Given the description of an element on the screen output the (x, y) to click on. 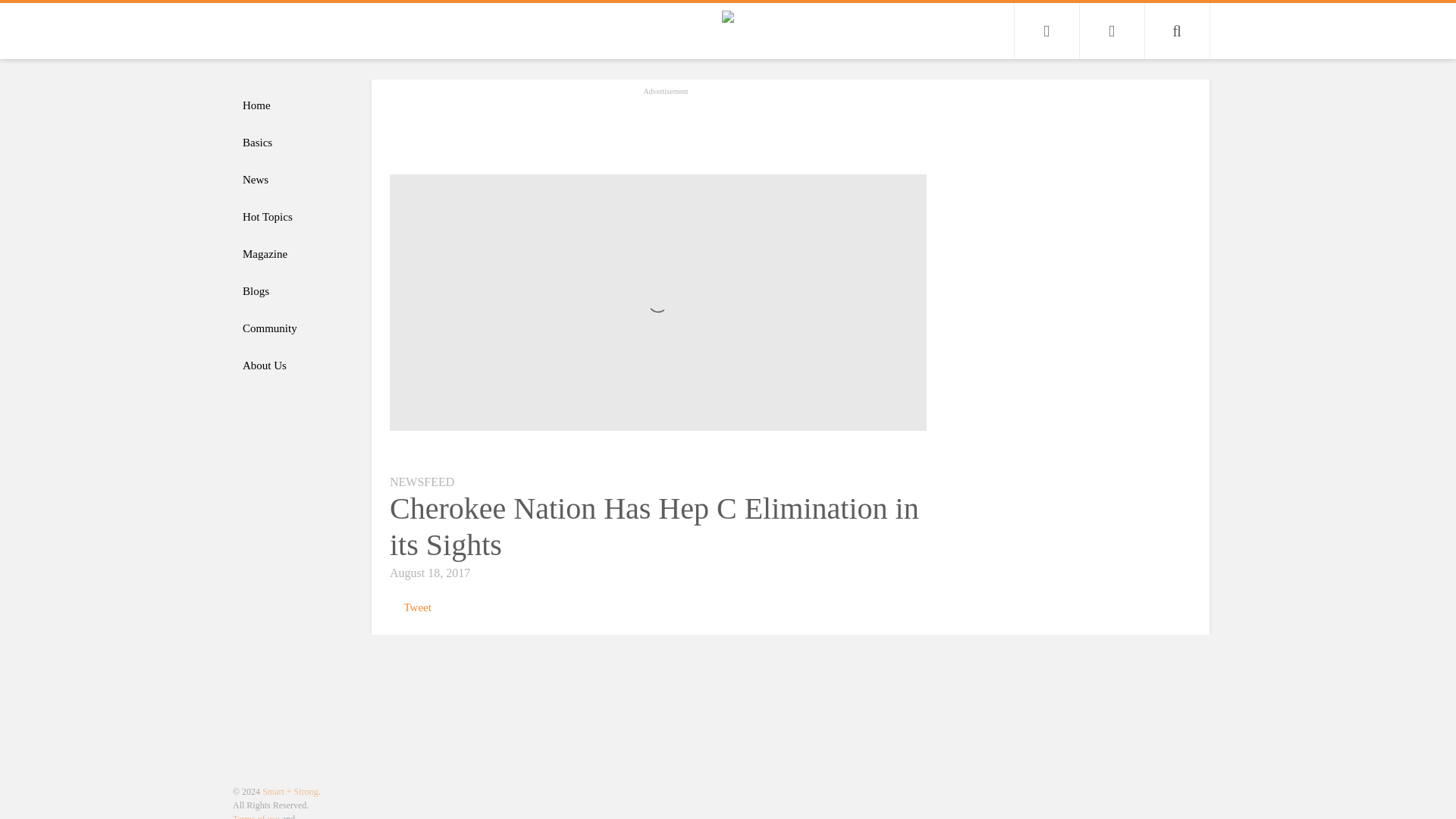
Home (294, 105)
Hot Topics (294, 217)
Basics (294, 142)
News (294, 180)
